Given the description of an element on the screen output the (x, y) to click on. 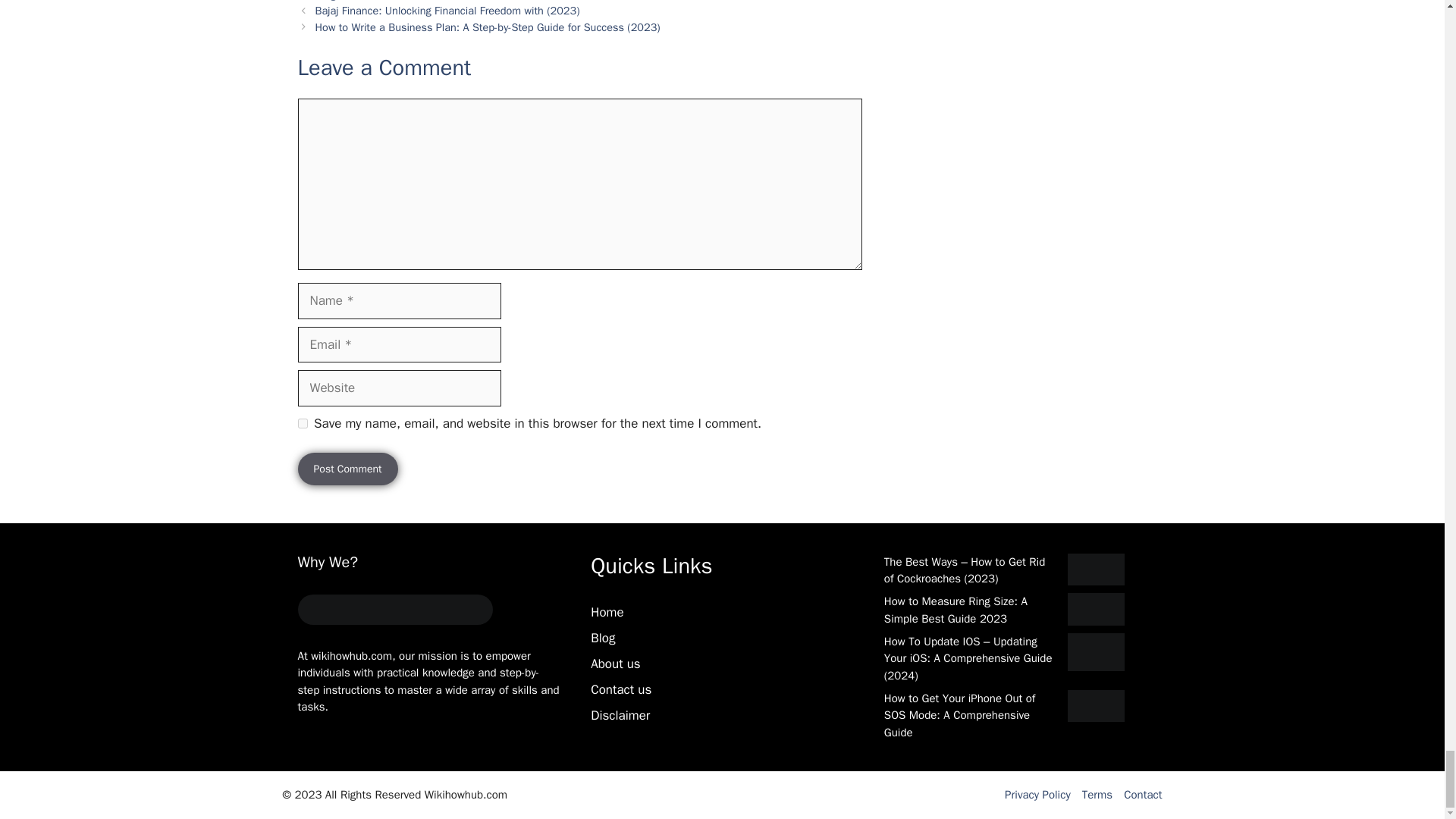
Post Comment (347, 468)
yes (302, 423)
